Given the description of an element on the screen output the (x, y) to click on. 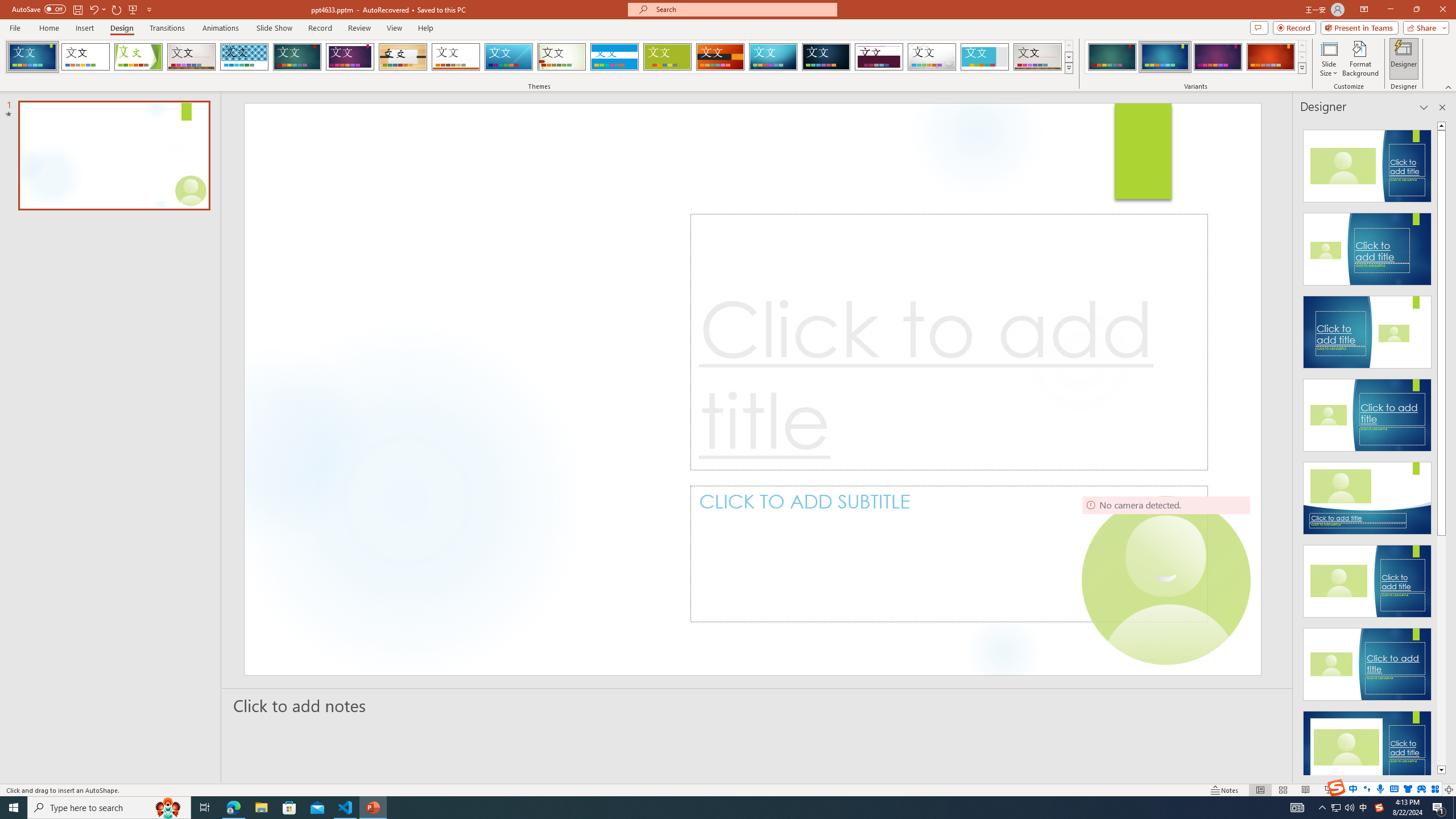
Close pane (1441, 107)
Droplet Loading Preview... (931, 56)
Ion Variant 1 (1112, 56)
Page down (1441, 650)
Close (1442, 9)
Slide Size (1328, 58)
Damask Loading Preview... (826, 56)
Microsoft search (742, 9)
Slide Sorter (1282, 790)
Zoom Out (1366, 790)
Gallery (191, 56)
Animations (220, 28)
AutomationID: SlideThemesGallery (539, 56)
Normal (1260, 790)
